Given the description of an element on the screen output the (x, y) to click on. 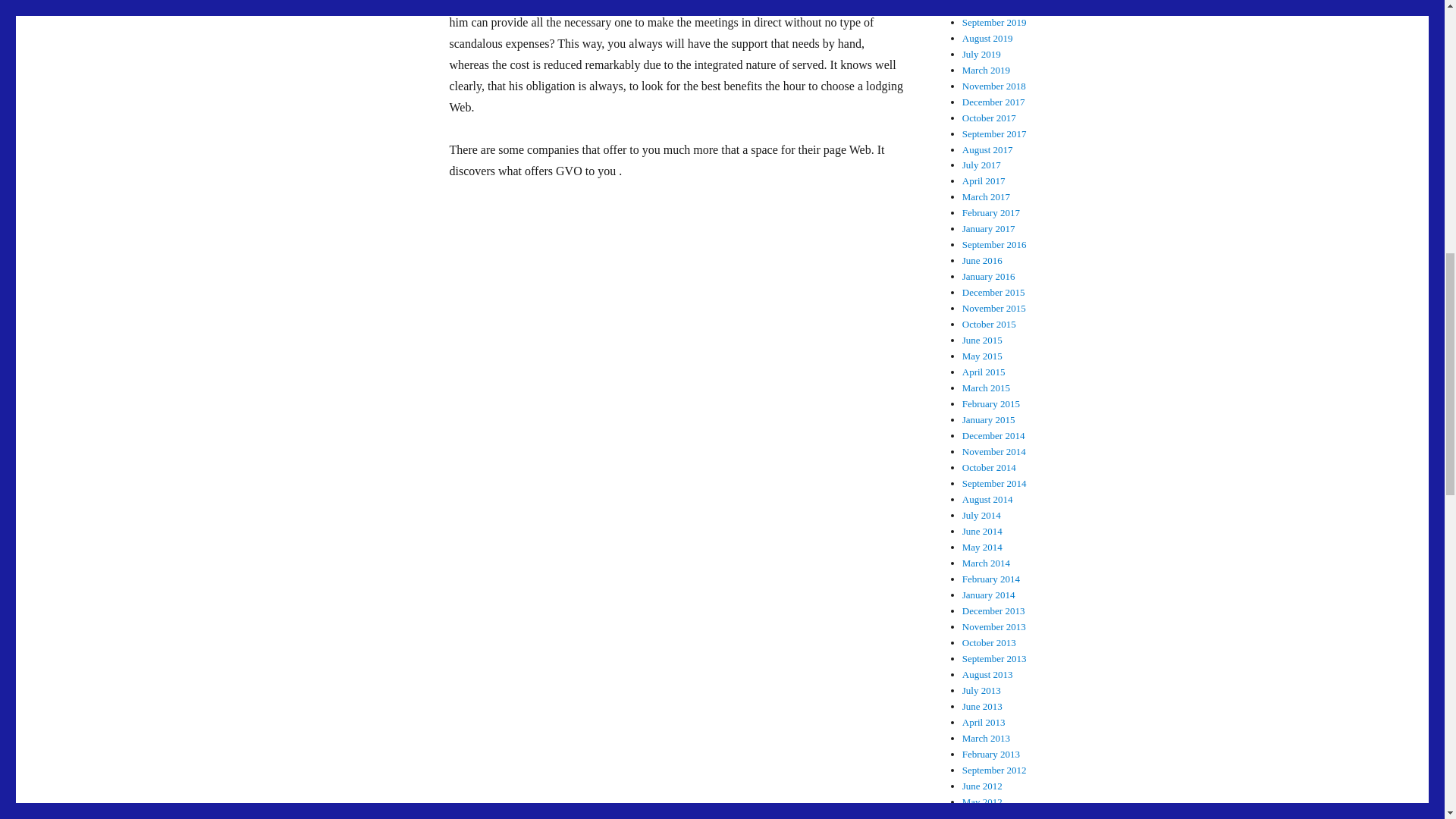
July 2017 (981, 164)
April 2017 (984, 180)
March 2019 (986, 70)
December 2017 (993, 101)
October 2017 (989, 117)
November 2018 (994, 85)
August 2019 (987, 38)
September 2017 (994, 133)
September 2019 (994, 21)
December 2019 (993, 6)
July 2019 (981, 53)
August 2017 (987, 149)
